Given the description of an element on the screen output the (x, y) to click on. 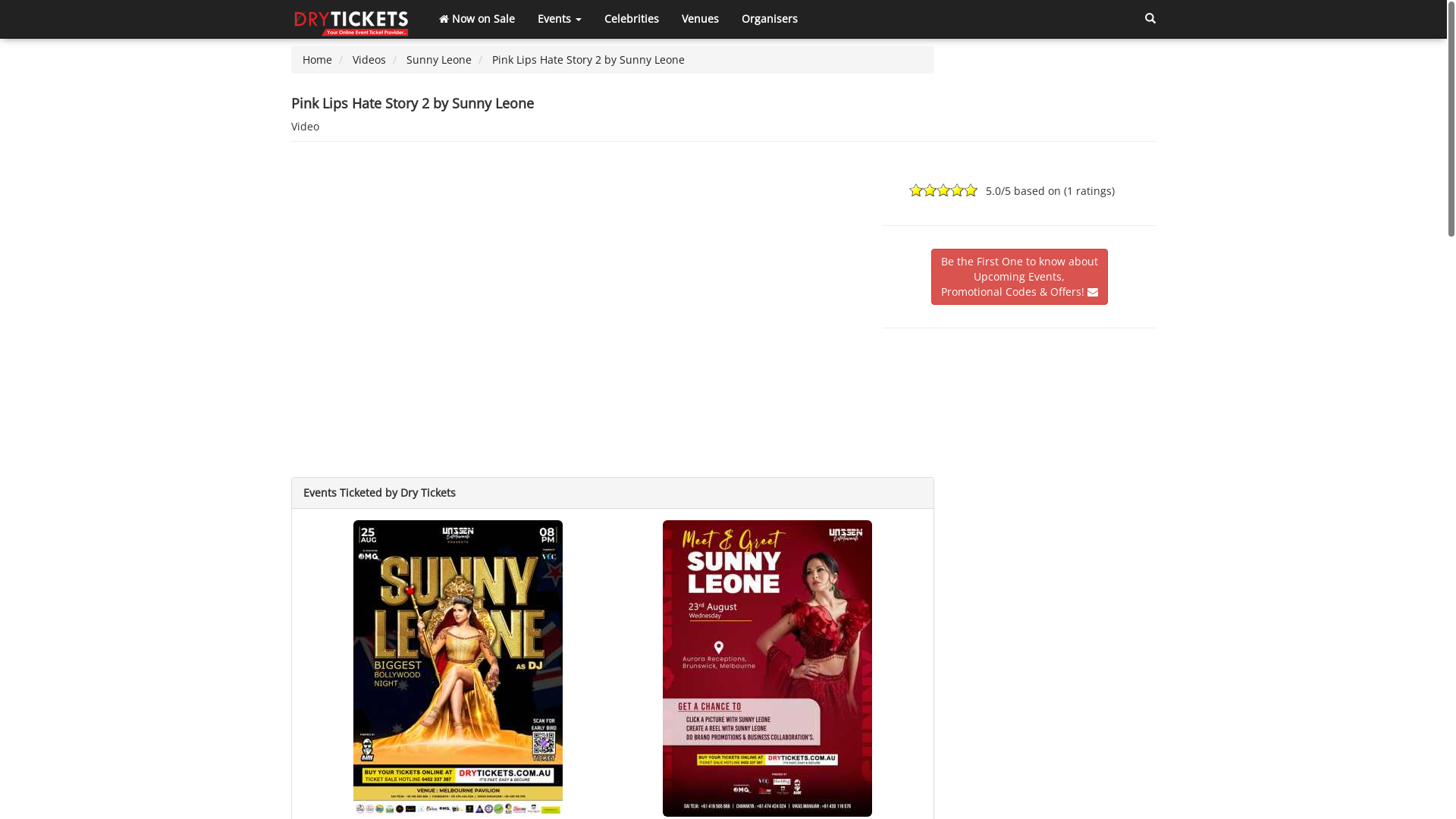
Celebrities Element type: text (631, 18)
Videos Element type: text (368, 59)
Meet & Greet - Sunny Leone Melbourne 2023 Element type: hover (767, 666)
Venues Element type: text (700, 18)
Now on Sale Element type: text (476, 18)
Buy Bollywood Concert Tickets Online - Sell Events Element type: hover (353, 18)
Home Element type: text (317, 59)
Events Element type: text (559, 18)
Organisers Element type: text (769, 18)
Search Element type: hover (1150, 18)
Pink Lips Hate Story 2 by Sunny Leone Element type: text (588, 59)
Sunny Leone Element type: text (438, 59)
